Given the description of an element on the screen output the (x, y) to click on. 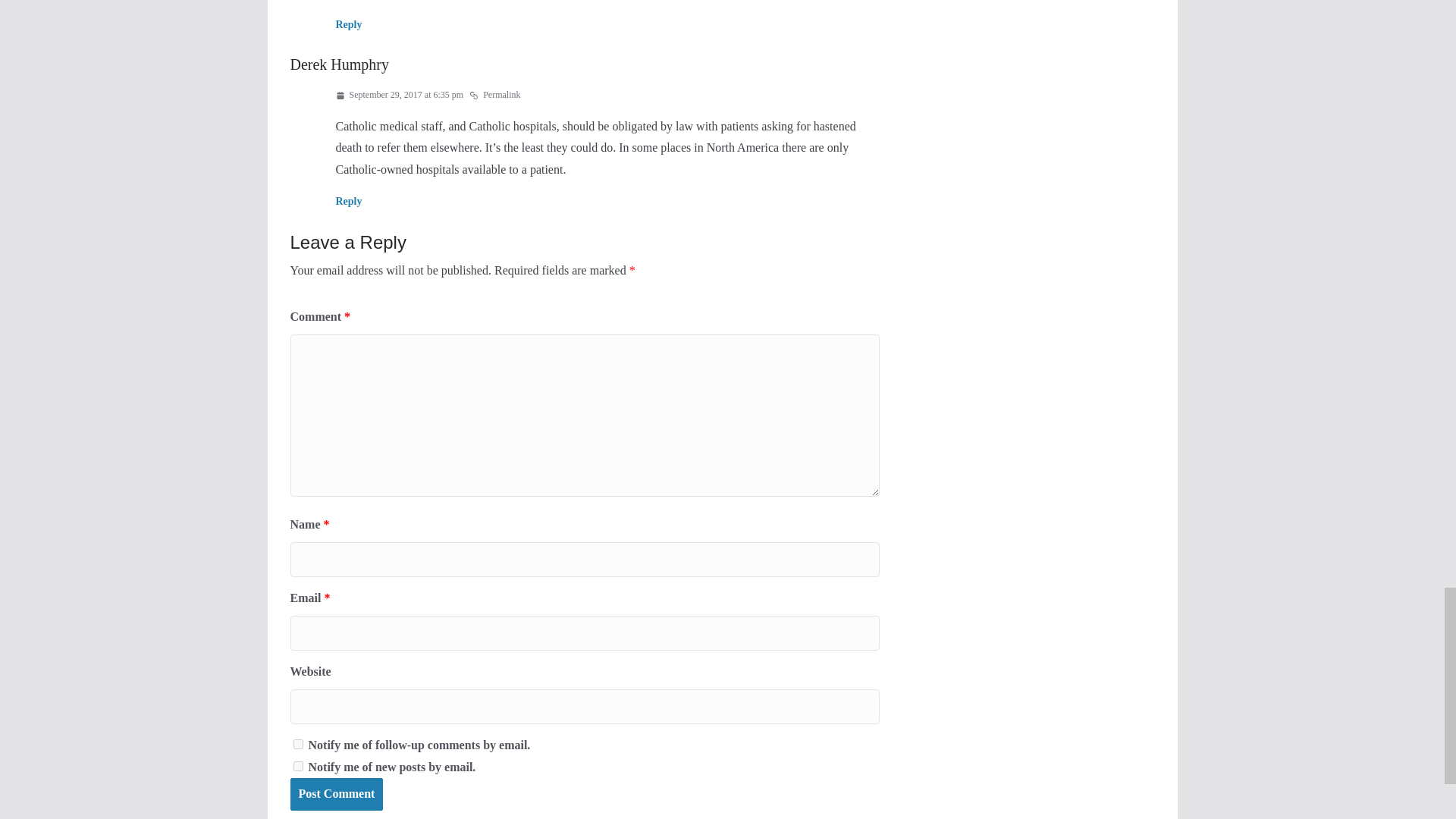
subscribe (297, 744)
subscribe (297, 766)
Post Comment (335, 794)
